Given the description of an element on the screen output the (x, y) to click on. 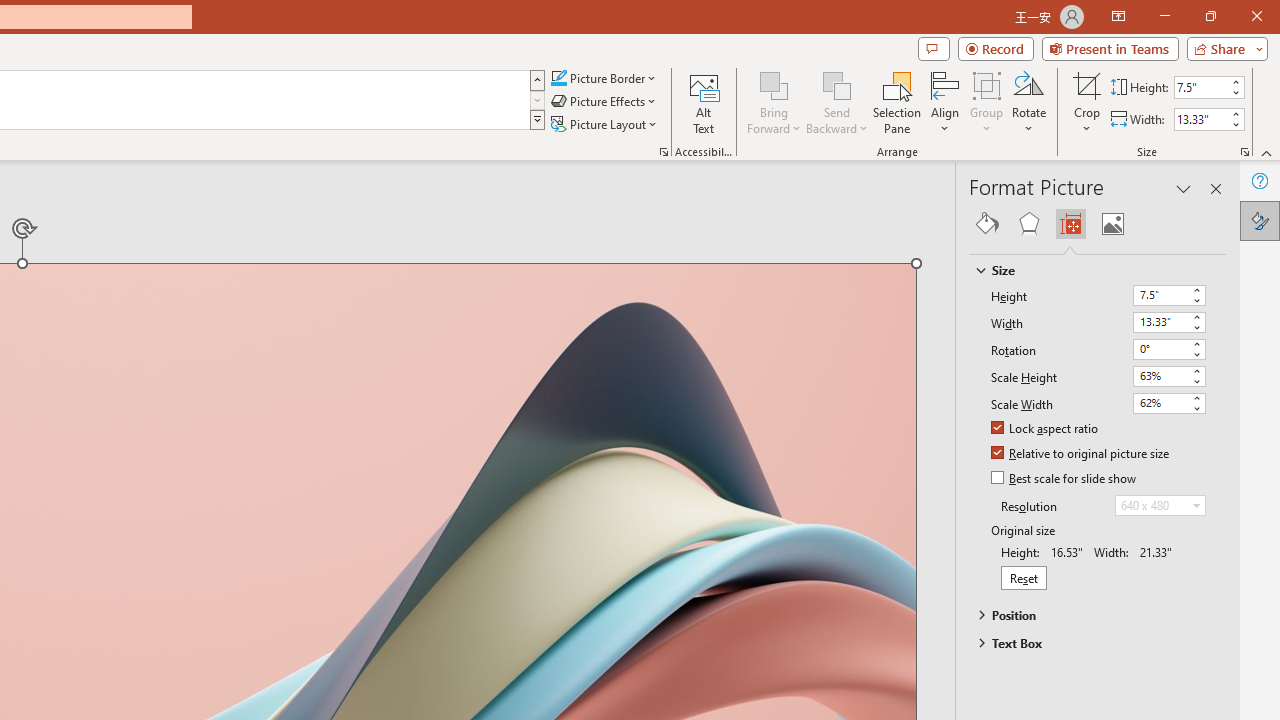
Size and Position... (1244, 151)
Picture Effects (605, 101)
Best scale for slide show (1065, 479)
